Given the description of an element on the screen output the (x, y) to click on. 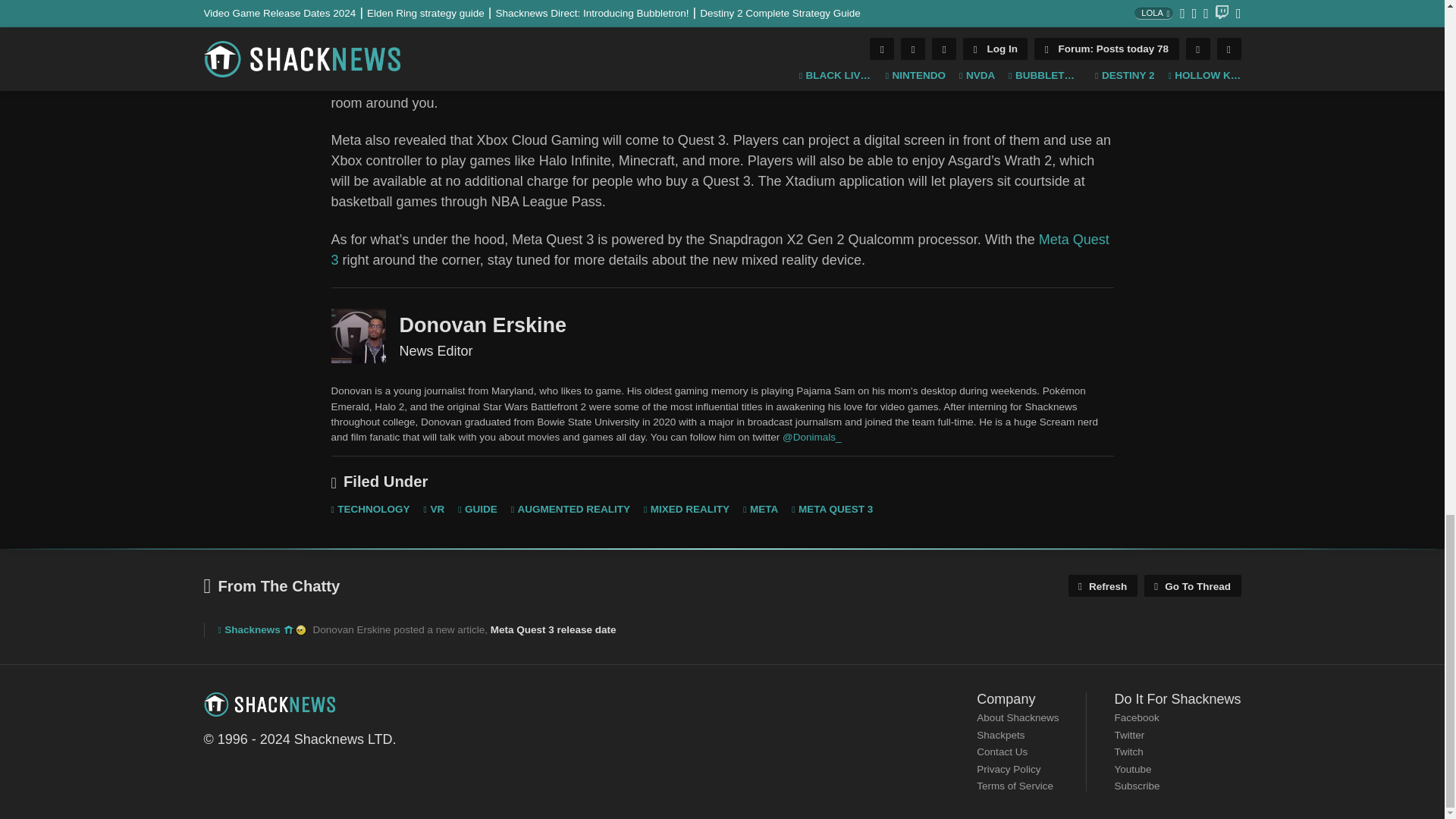
legacy 20 years (300, 629)
News Editor (357, 335)
legacy 10 years (288, 629)
